Given the description of an element on the screen output the (x, y) to click on. 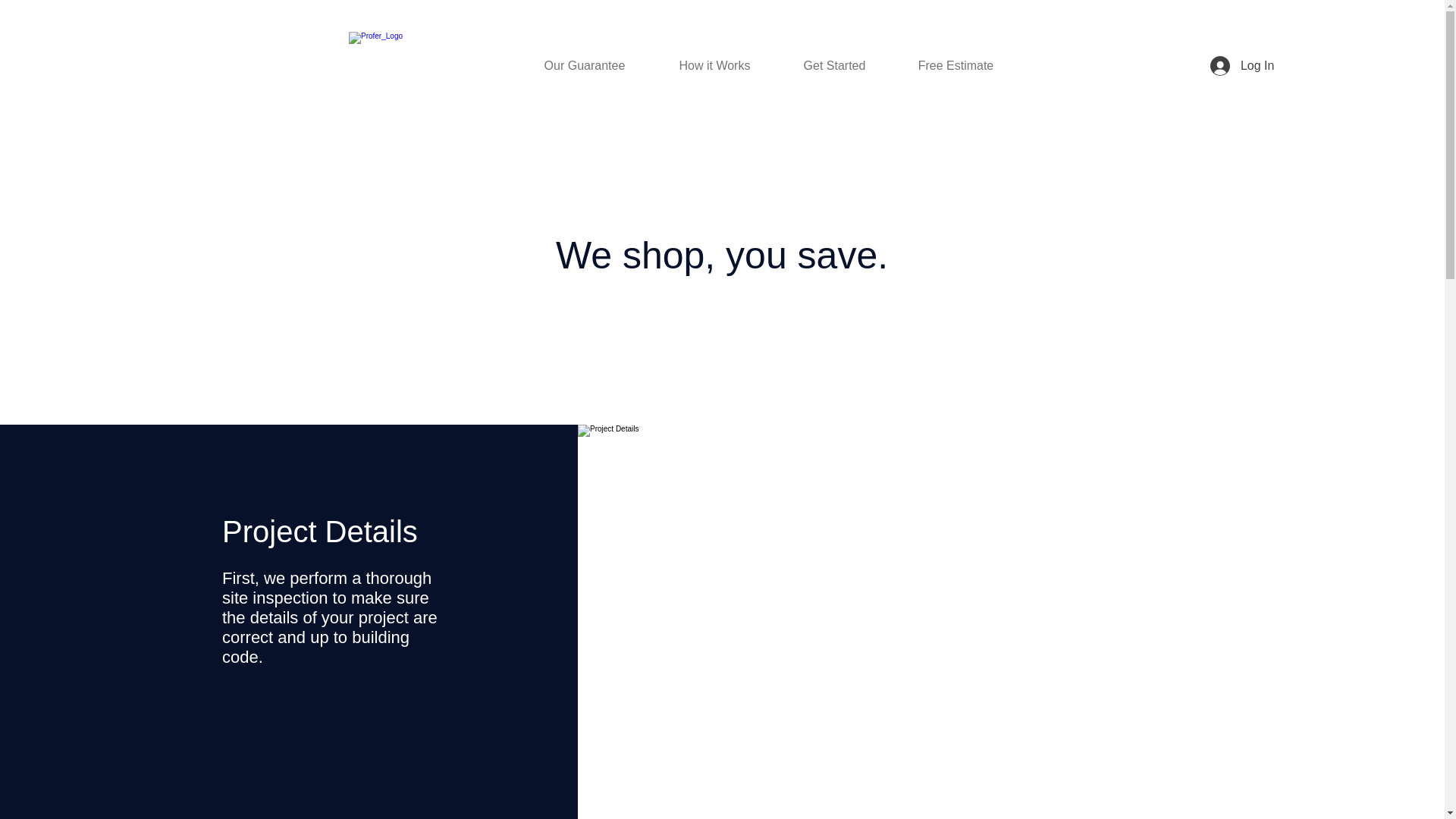
Free Estimate (955, 65)
Log In (1241, 65)
Get Started (834, 65)
How it Works (714, 65)
Our Guarantee (584, 65)
